Given the description of an element on the screen output the (x, y) to click on. 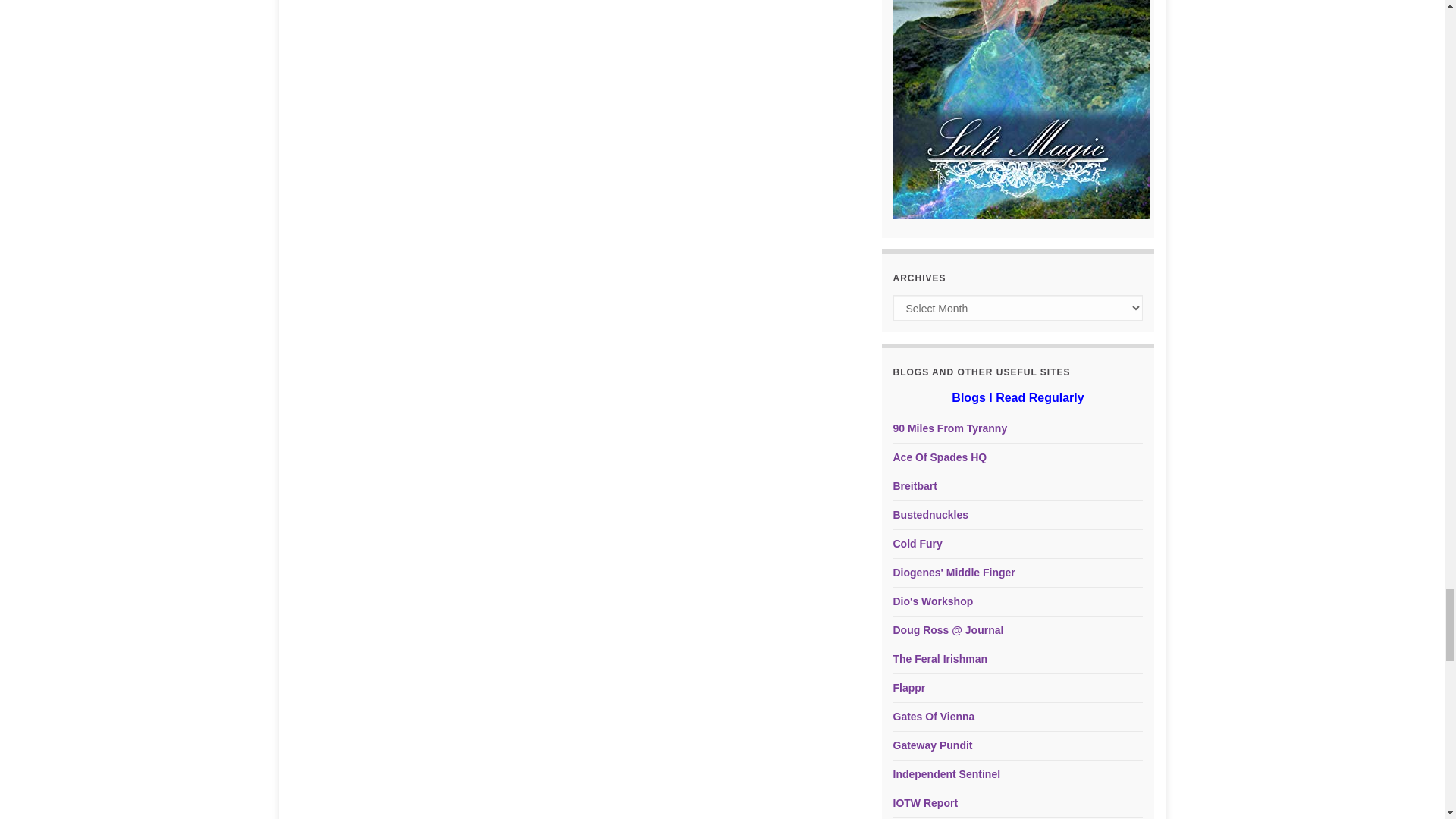
Diogenes' Middle Finger (953, 572)
Ace Of Spades HQ (940, 457)
Breitbart (915, 485)
Bustednuckles (931, 514)
Cold Fury (917, 543)
90 Miles From Tyranny (950, 428)
Dio's Workshop (933, 601)
